Given the description of an element on the screen output the (x, y) to click on. 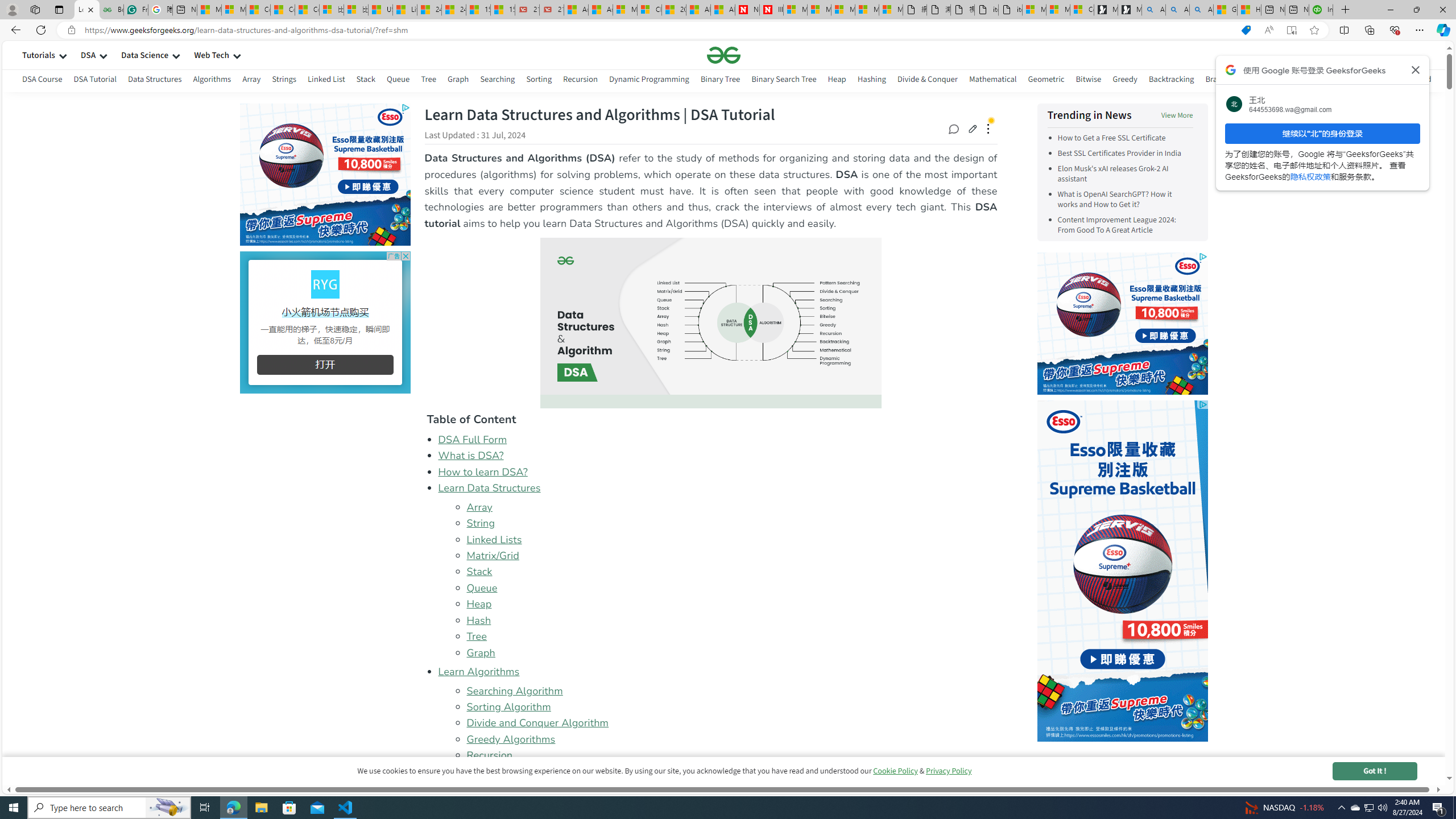
How to learn DSA? (717, 471)
View More (1176, 115)
Stack (478, 572)
What is OpenAI SearchGPT? How it works and How to Get it? (1125, 199)
Hashing (871, 79)
Tree (476, 636)
Cookie Policy (895, 771)
Matrix (1291, 80)
Strings (283, 79)
